Given the description of an element on the screen output the (x, y) to click on. 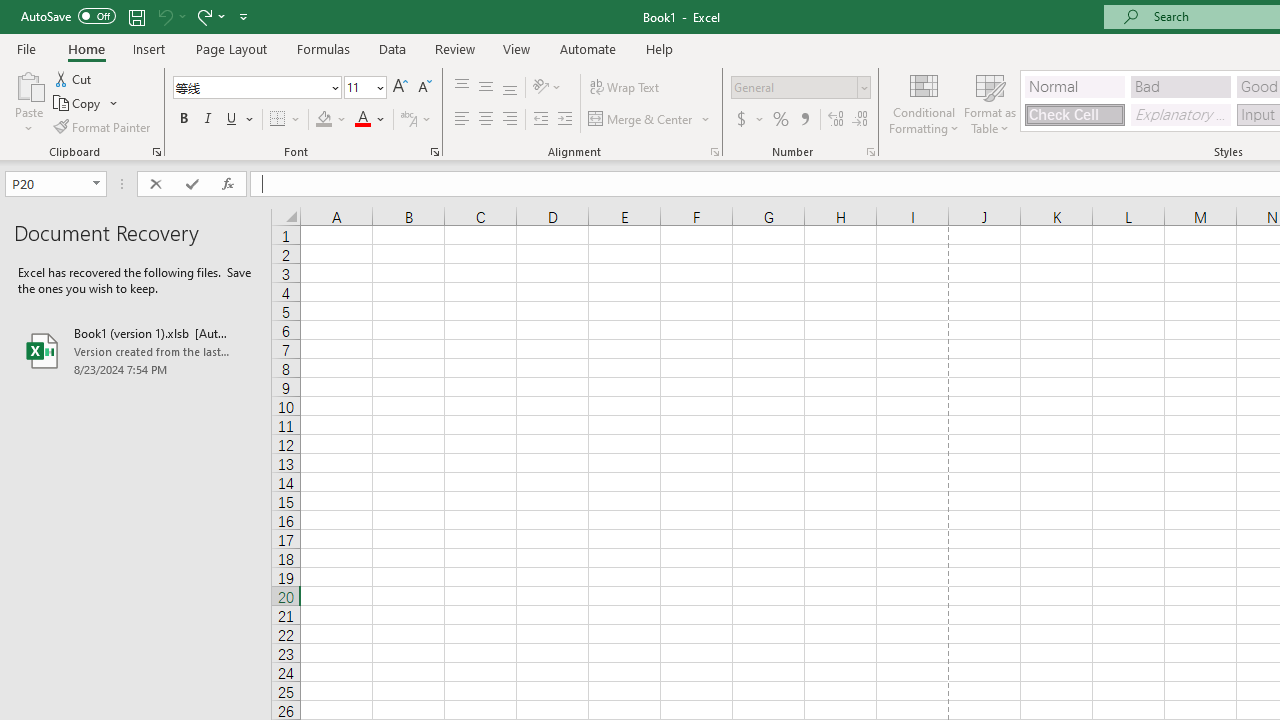
Font Color (370, 119)
Decrease Indent (540, 119)
Font (256, 87)
Font Size (365, 87)
Copy (78, 103)
Home (86, 48)
Show Phonetic Field (416, 119)
Increase Indent (565, 119)
Font (250, 87)
Copy (85, 103)
Customize Quick Access Toolbar (244, 15)
Format Cell Alignment (714, 151)
Font Size (358, 87)
Align Right (509, 119)
Automate (588, 48)
